Given the description of an element on the screen output the (x, y) to click on. 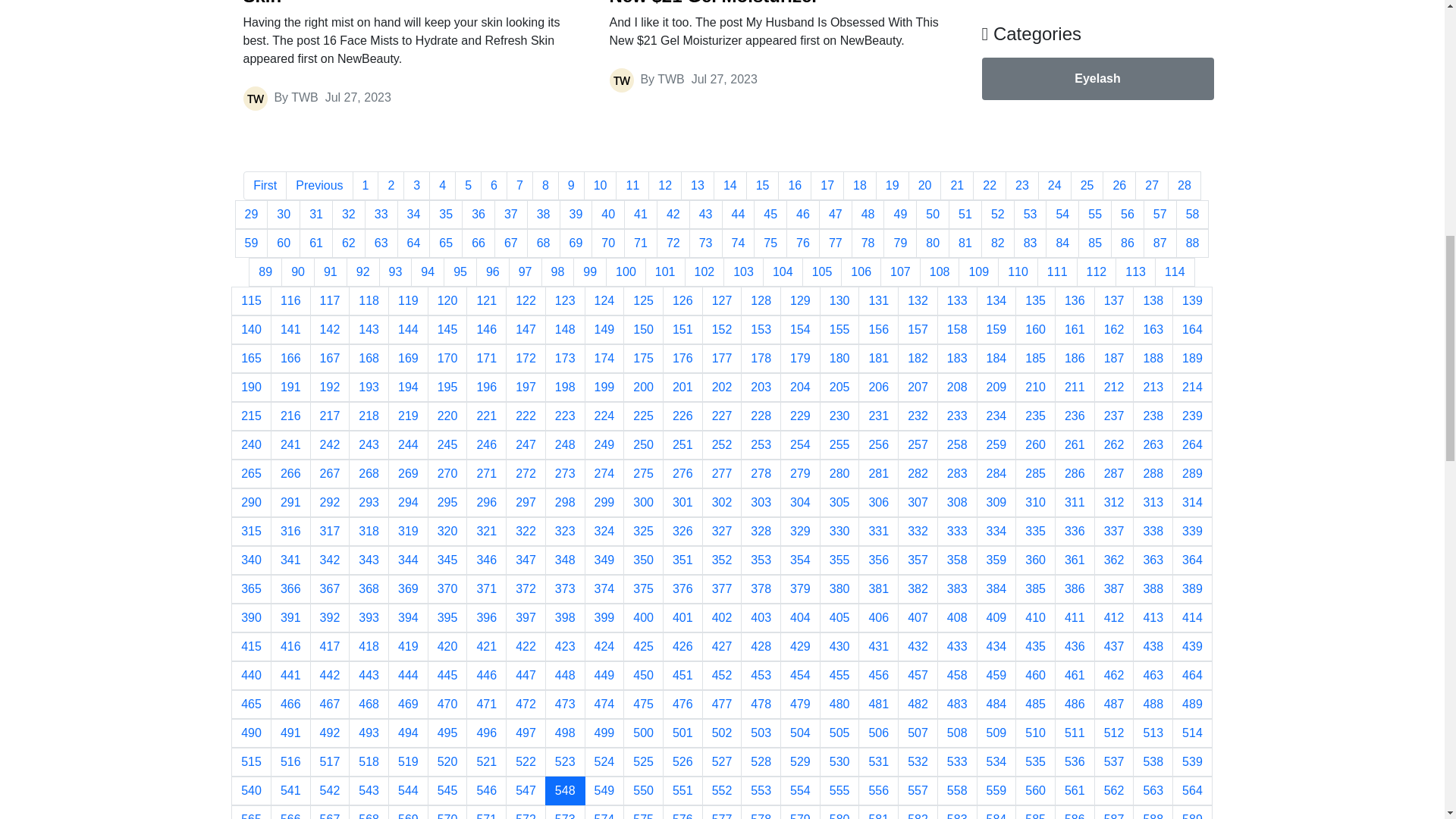
4 (442, 185)
1 (365, 185)
18 (859, 185)
24 (1054, 185)
19 (892, 185)
6 (493, 185)
21 (957, 185)
7 (519, 185)
17 (827, 185)
Previous (318, 185)
5 (467, 185)
22 (989, 185)
2 (390, 185)
9 (571, 185)
3 (416, 185)
